Given the description of an element on the screen output the (x, y) to click on. 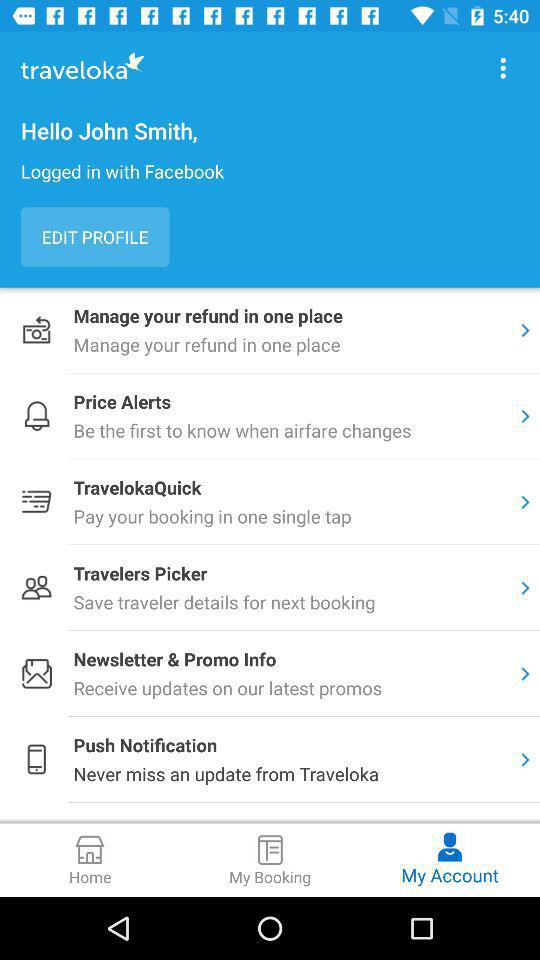
open more options (503, 68)
